Given the description of an element on the screen output the (x, y) to click on. 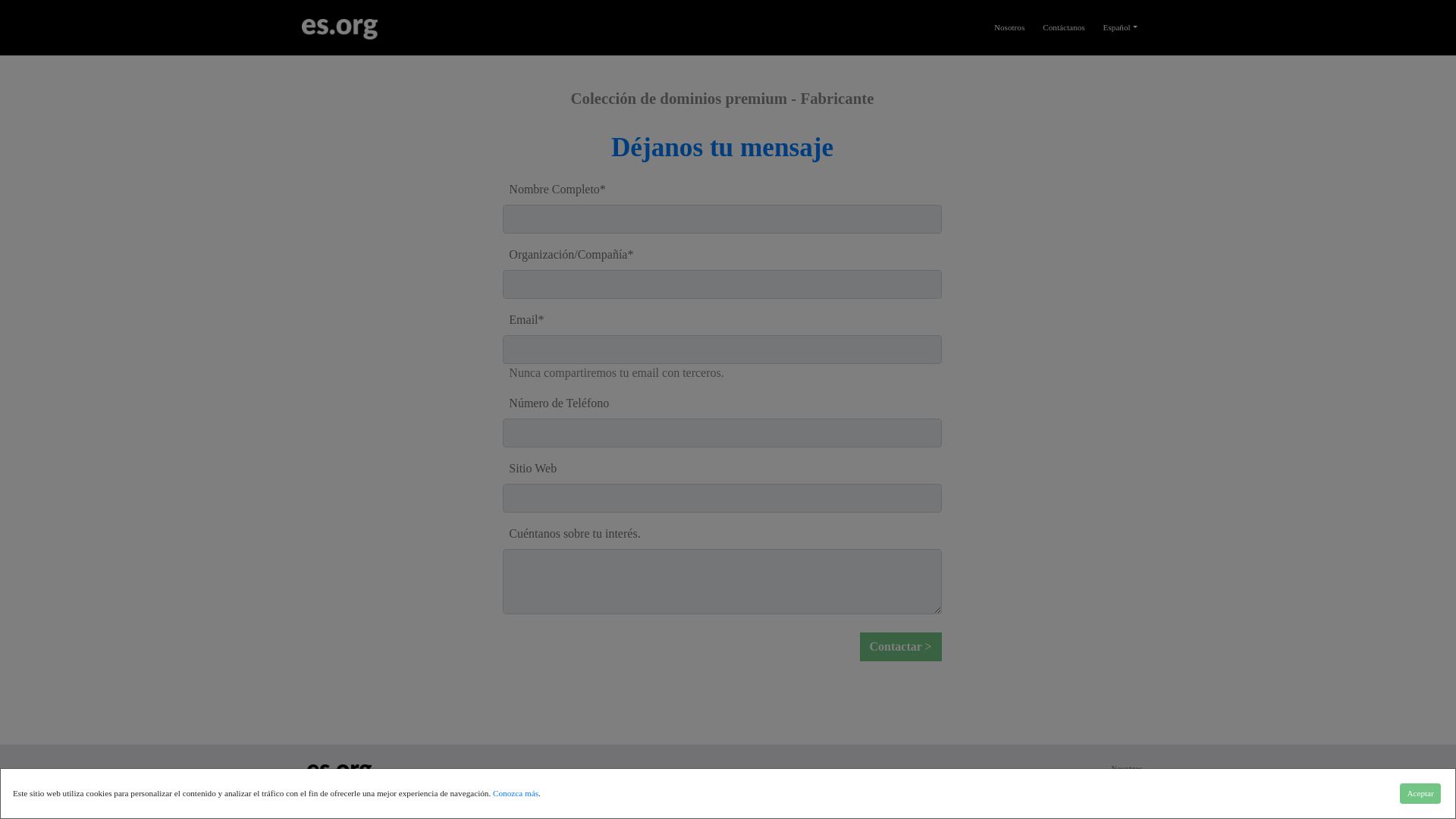
Nosotros (1126, 768)
Nosotros (1009, 8)
Aceptar (1419, 770)
